Given the description of an element on the screen output the (x, y) to click on. 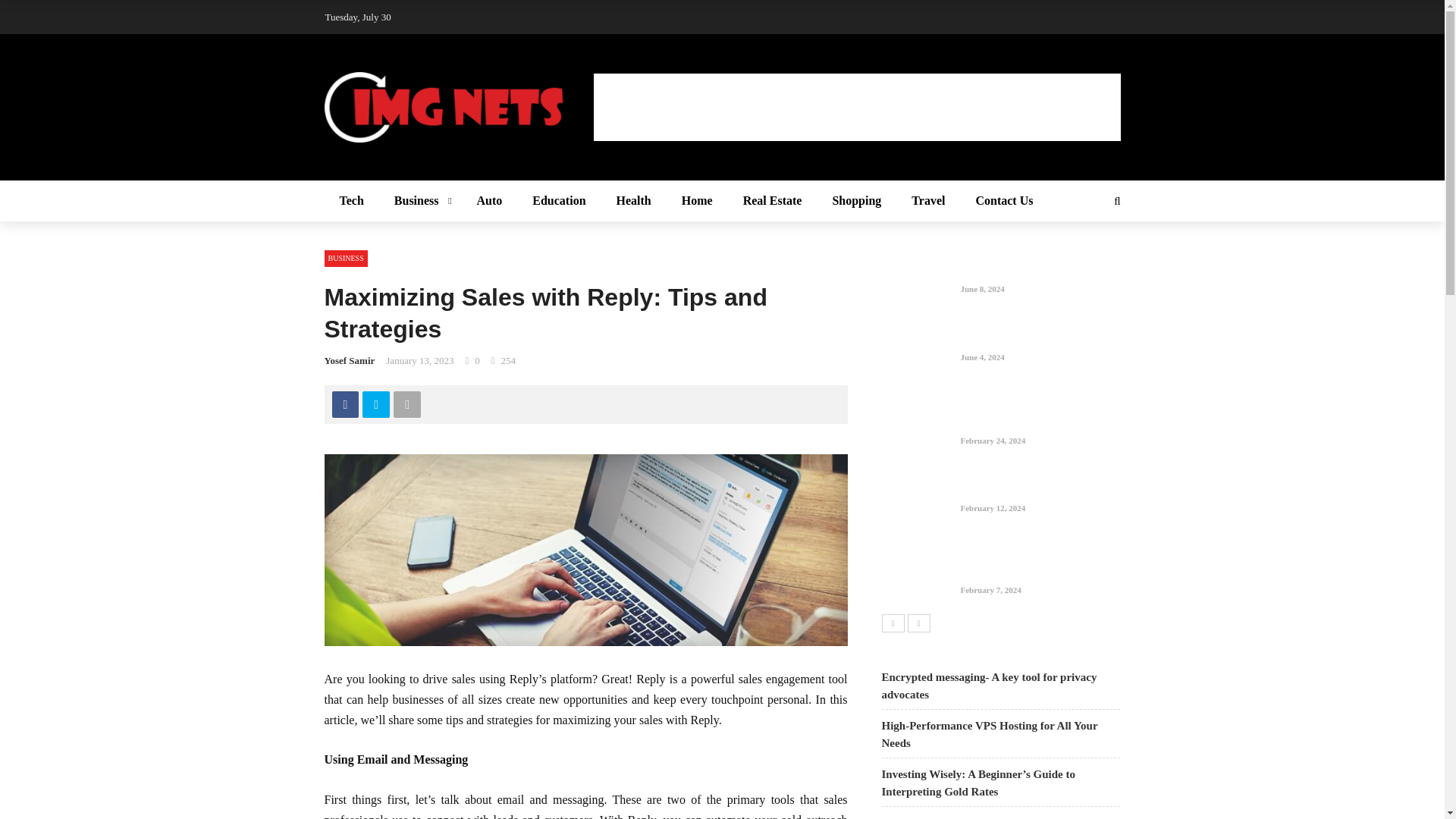
Auto (489, 200)
Travel (927, 200)
Real Estate (772, 200)
Business (419, 200)
Contact Us (1003, 200)
Shopping (856, 200)
Health (633, 200)
Home (697, 200)
Tech (351, 200)
Education (557, 200)
